Given the description of an element on the screen output the (x, y) to click on. 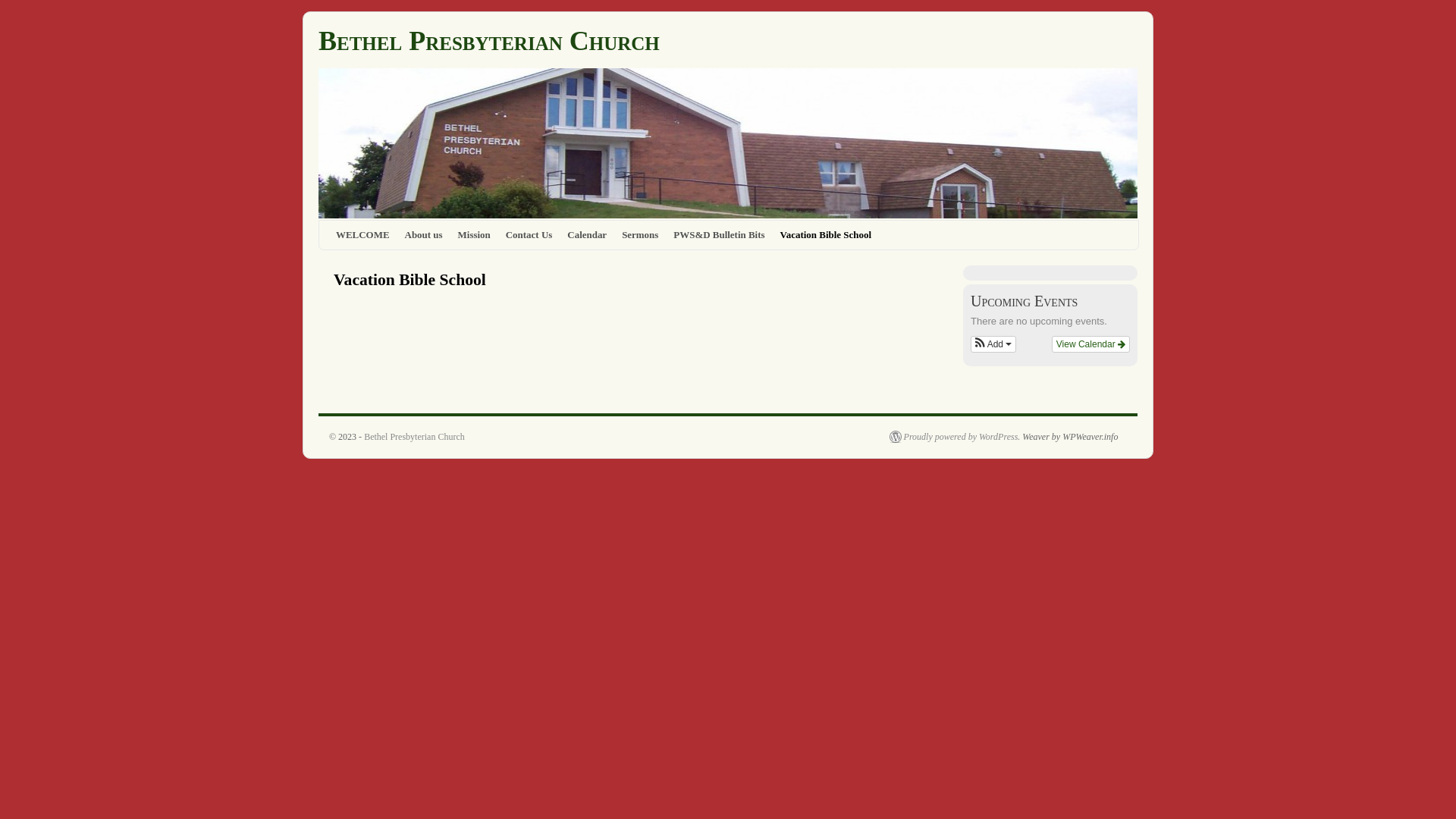
PWS&D Bulletin Bits Element type: text (718, 234)
Mission Element type: text (474, 234)
Calendar Element type: text (586, 234)
Bethel Presbyterian Church Element type: text (488, 40)
About us Element type: text (423, 234)
View Calendar Element type: text (1090, 343)
WELCOME Element type: text (362, 234)
Sermons Element type: text (639, 234)
Contact Us Element type: text (529, 234)
Vacation Bible School Element type: text (825, 234)
Bethel Presbyterian Church Element type: text (414, 436)
Proudly powered by WordPress. Element type: text (954, 436)
